Given the description of an element on the screen output the (x, y) to click on. 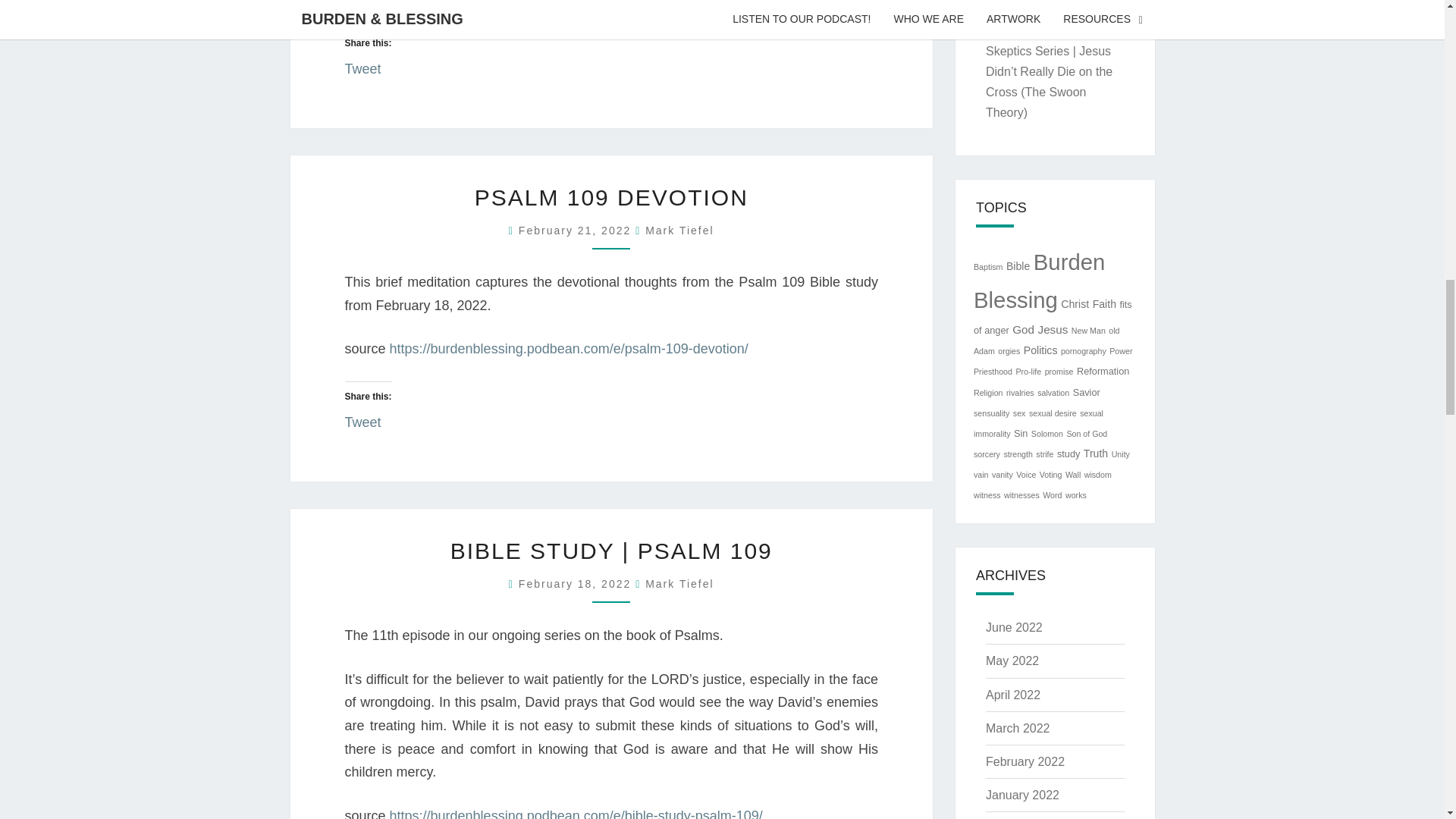
6:43 am (576, 230)
February 21, 2022 (576, 230)
Tweet (361, 64)
Mark Tiefel (679, 583)
PSALM 109 DEVOTION (611, 197)
View all posts by Mark Tiefel (679, 583)
View all posts by Mark Tiefel (679, 230)
Mark Tiefel (679, 230)
February 18, 2022 (576, 583)
Tweet (361, 418)
